Given the description of an element on the screen output the (x, y) to click on. 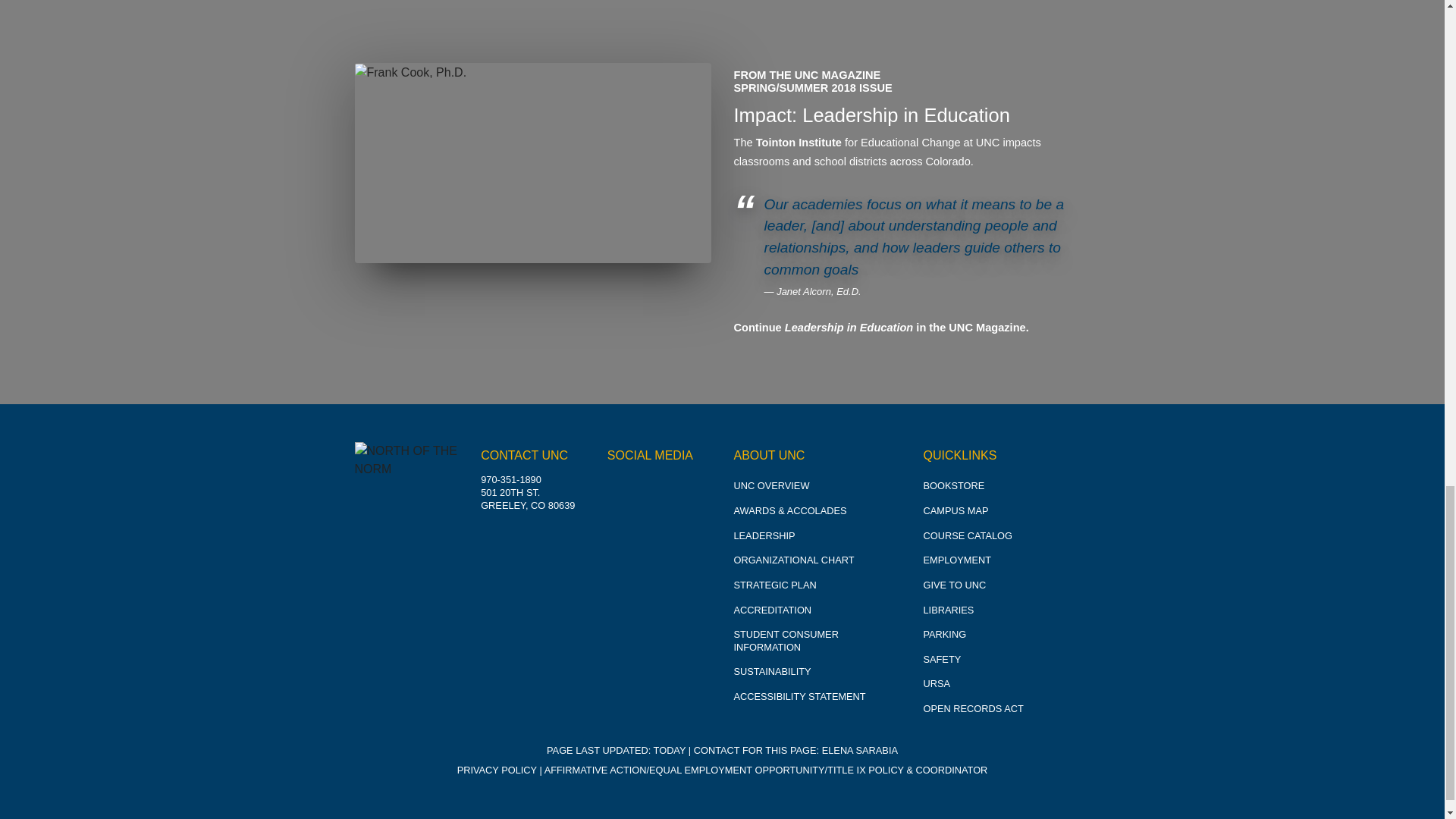
YouTube (624, 532)
TikTok (624, 574)
Bear in Mind Podcast (658, 574)
Instagram (624, 490)
Snapchat (692, 532)
Facebook (658, 490)
LinkedIn (658, 532)
Twitter (692, 490)
